Given the description of an element on the screen output the (x, y) to click on. 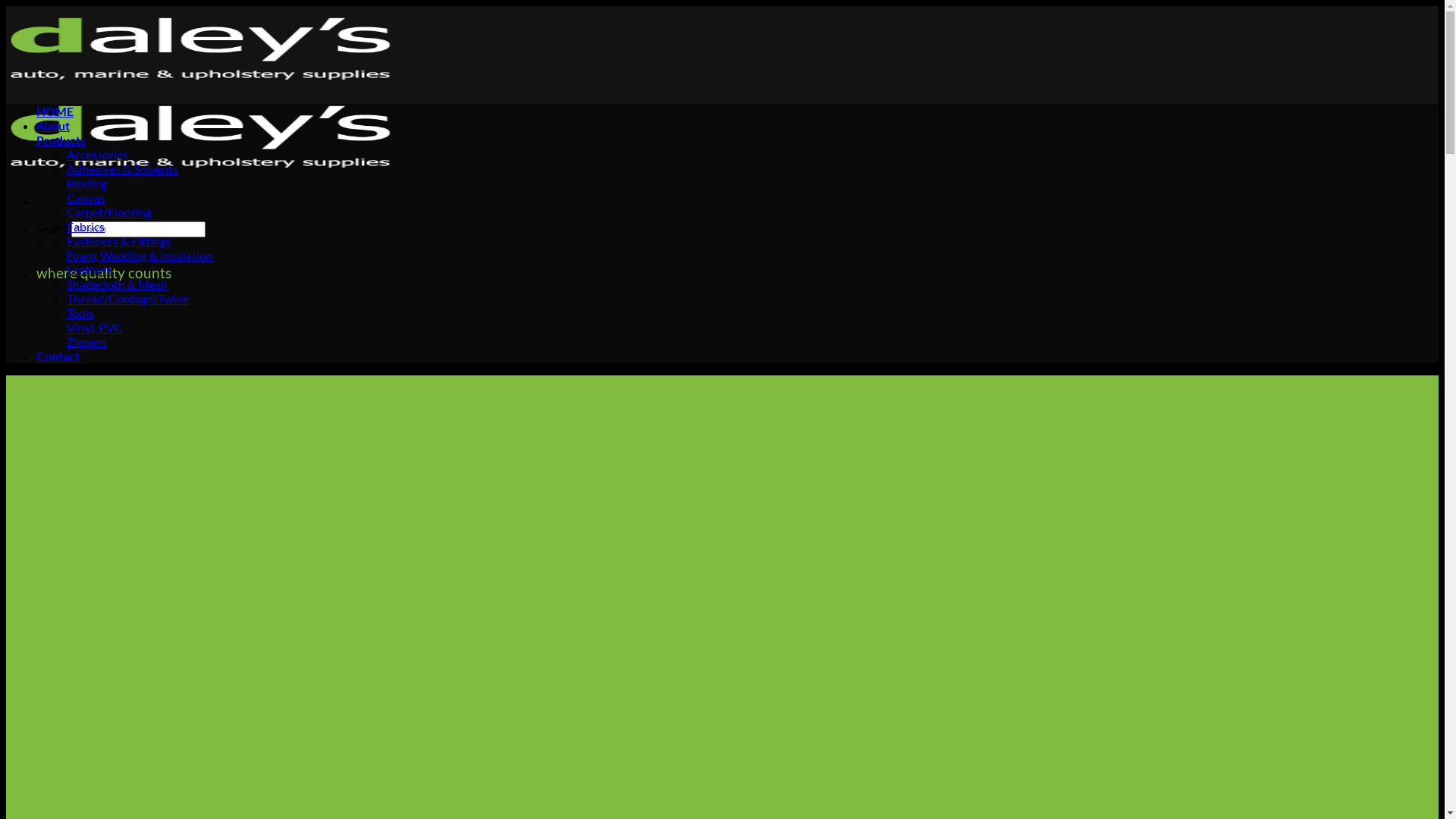
Zippers Element type: text (86, 341)
Fabrics Element type: text (85, 226)
Skip to content Element type: text (5, 5)
Leathers Element type: text (89, 269)
Shadecloth & Mesh Element type: text (116, 283)
Products Element type: text (60, 139)
Fasteners & Fittings Element type: text (118, 240)
HOME Element type: text (54, 110)
Carpet/Flooring Element type: text (108, 211)
Adhesives & Solvents Element type: text (122, 168)
Accessories Element type: text (97, 154)
Tools Element type: text (80, 312)
Binding Element type: text (86, 182)
Thread/Cordage/Twine Element type: text (127, 298)
Foam, Wadding & Insulation Element type: text (139, 254)
Contact Element type: text (57, 355)
Vinyl, PVC Element type: text (94, 327)
Canvas Element type: text (85, 197)
About Element type: text (52, 125)
